Given the description of an element on the screen output the (x, y) to click on. 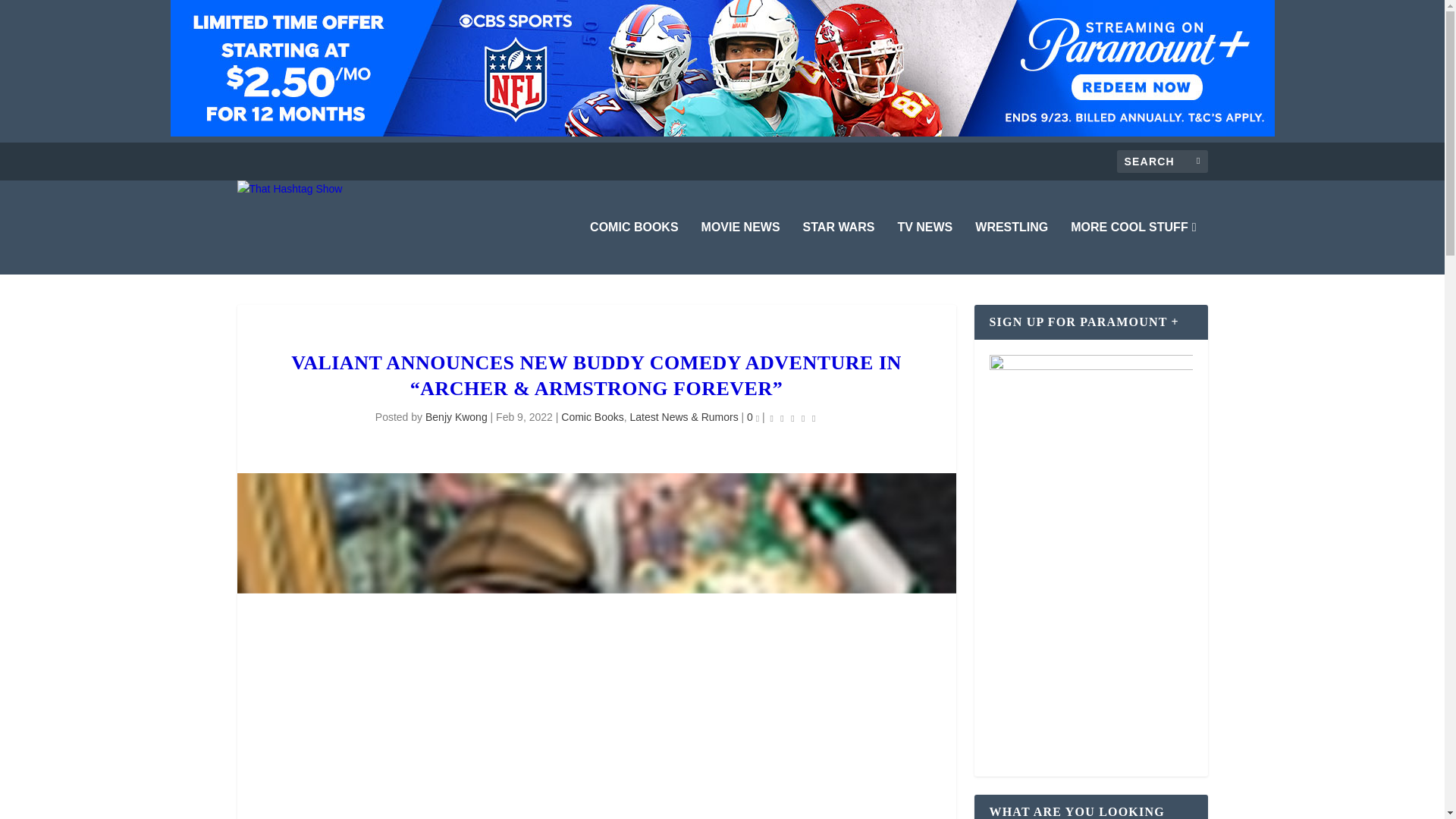
STAR WARS (839, 247)
COMIC BOOKS (633, 247)
Search for: (1161, 160)
MOVIE NEWS (740, 247)
Comic Books (591, 417)
MORE COOL STUFF (1132, 247)
0 (752, 417)
Benjy Kwong (456, 417)
TV NEWS (924, 247)
Posts by Benjy Kwong (456, 417)
